Given the description of an element on the screen output the (x, y) to click on. 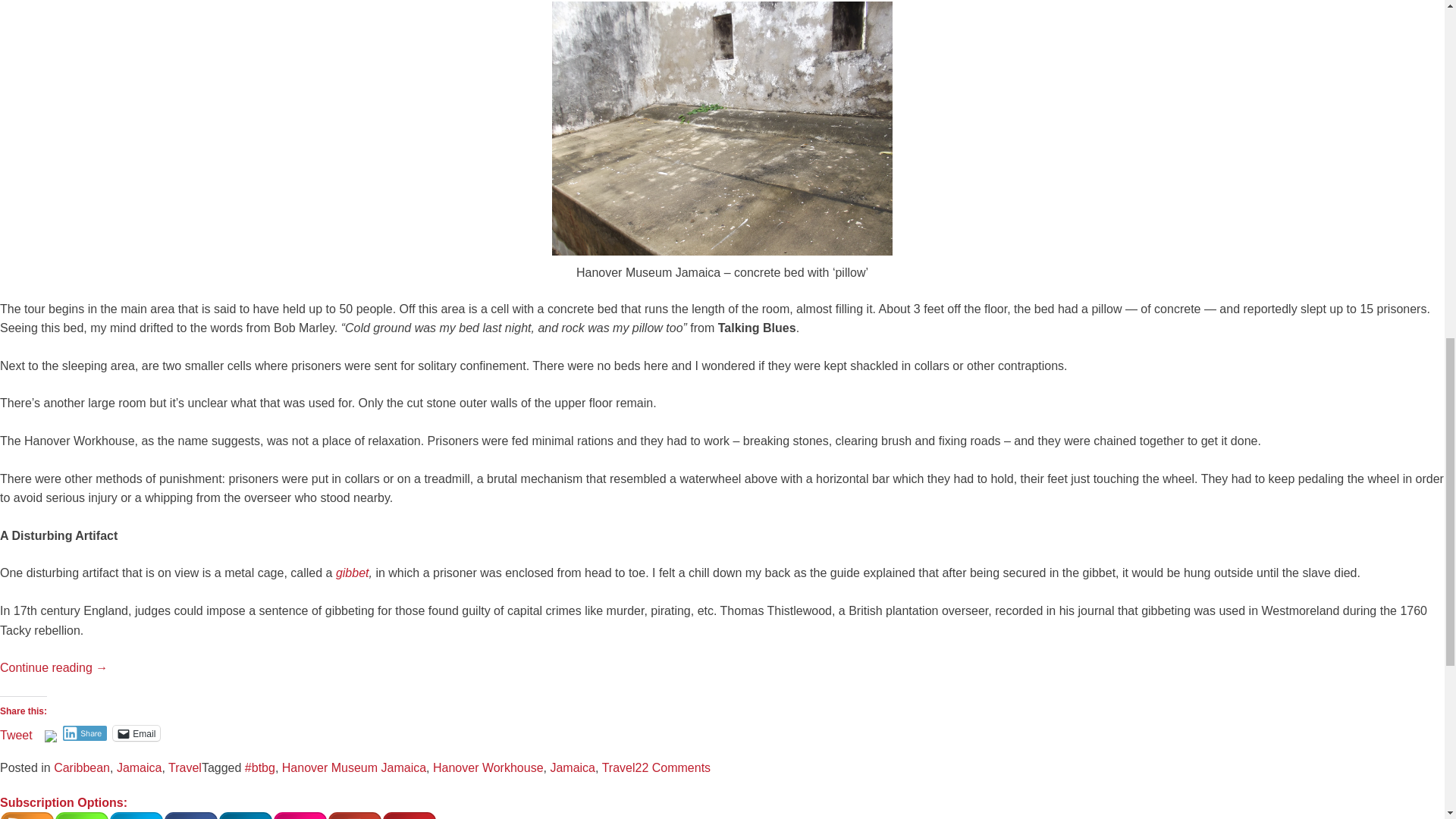
Click to email a link to a friend (136, 733)
Concrete bed with 'pillow' at Hanover Museum Jamaica (721, 128)
